Given the description of an element on the screen output the (x, y) to click on. 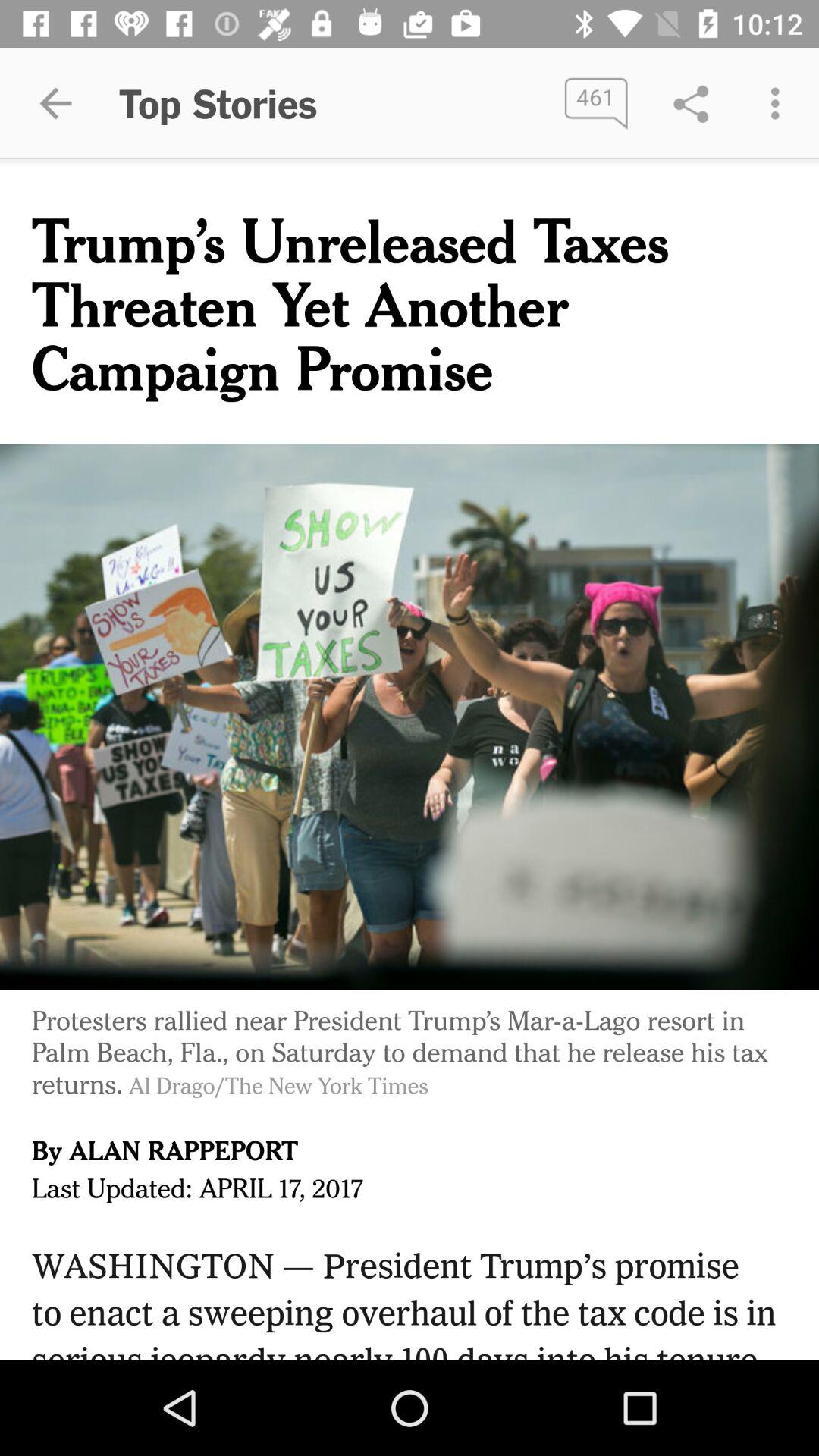
click on the shar icon at the top right corner (691, 103)
click on the button which is left side of the share button (595, 103)
